Given the description of an element on the screen output the (x, y) to click on. 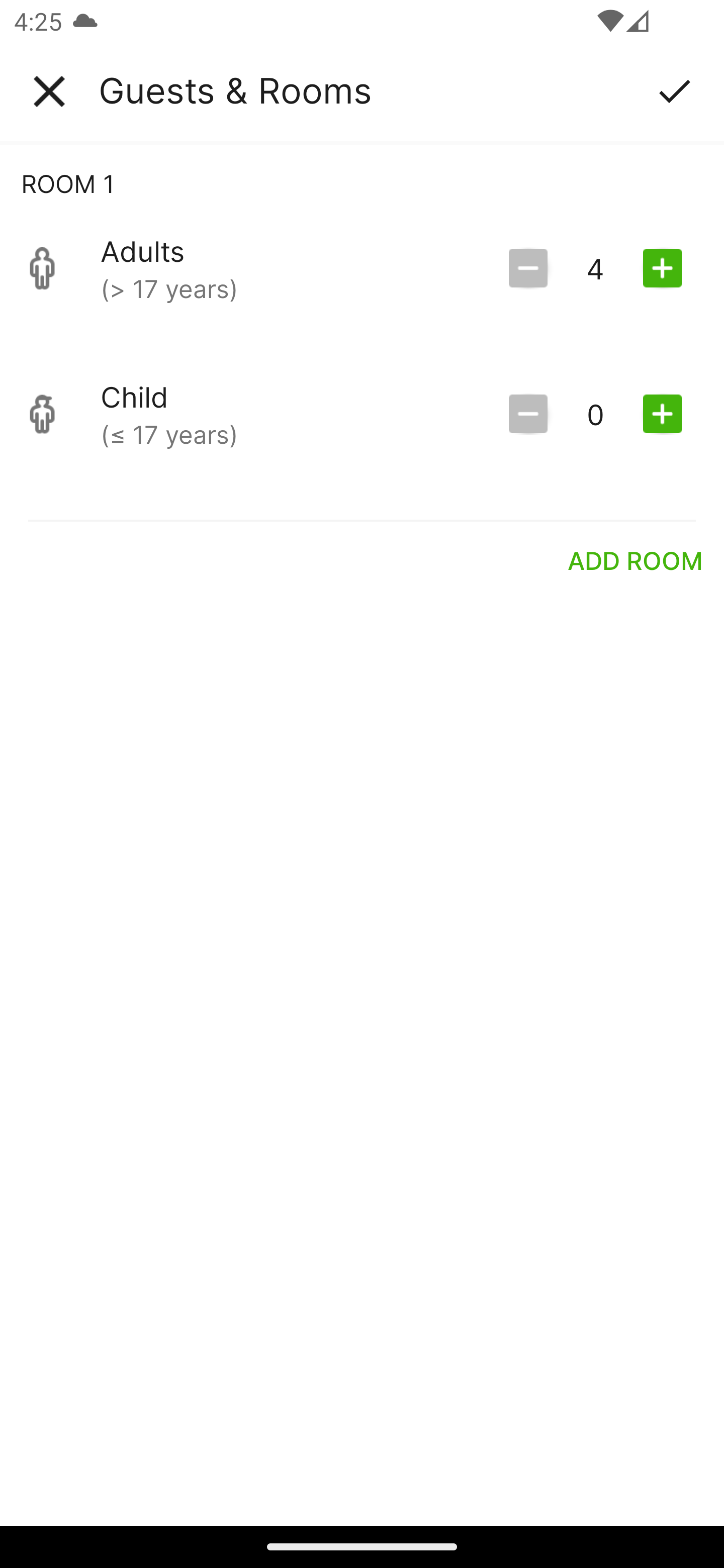
ADD ROOM (635, 560)
